Given the description of an element on the screen output the (x, y) to click on. 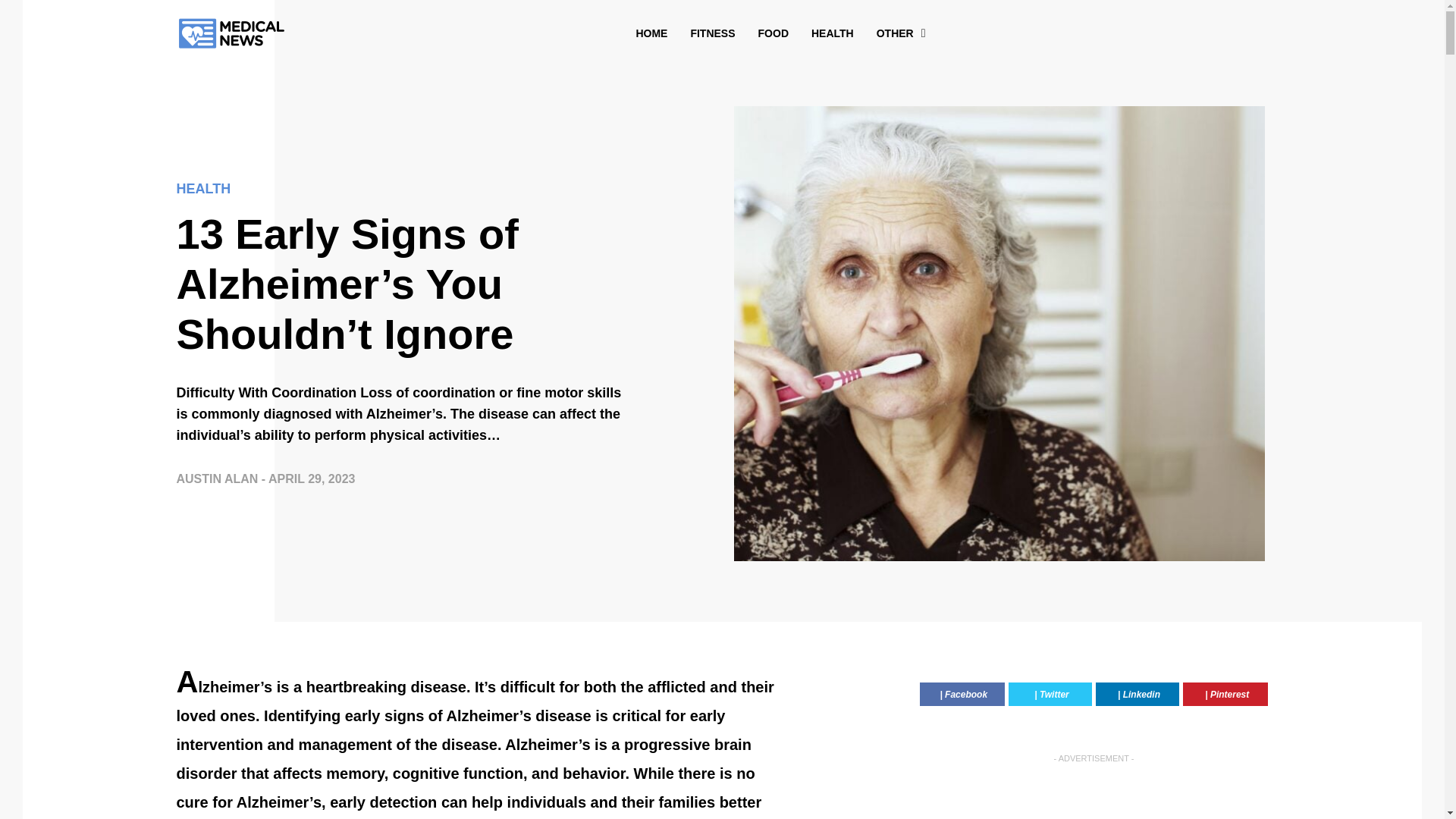
HOME (651, 33)
FOOD (773, 33)
FITNESS (712, 33)
HEALTH (403, 192)
AUSTIN ALAN (218, 478)
OTHER (895, 33)
HEALTH (832, 33)
